Given the description of an element on the screen output the (x, y) to click on. 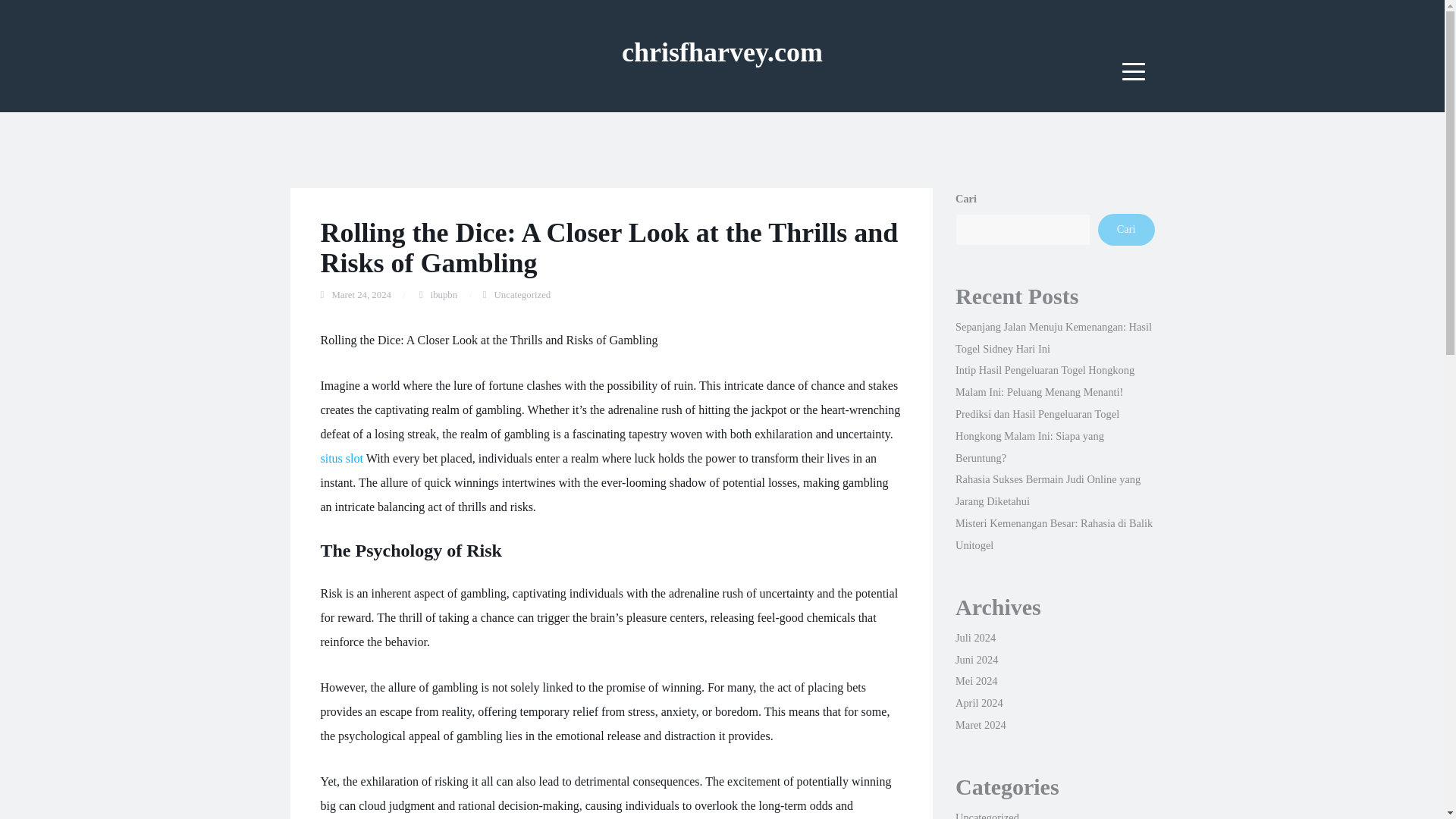
Maret 2024 (980, 725)
Cari (1125, 229)
Rahasia Sukses Bermain Judi Online yang Jarang Diketahui (1047, 489)
Uncategorized (523, 294)
situs slot (341, 458)
ibupbn (444, 294)
Maret 24, 2024 (361, 294)
Juli 2024 (975, 637)
chrisfharvey.com (721, 51)
April 2024 (979, 702)
Menu (1133, 71)
Mei 2024 (976, 680)
Uncategorized (987, 815)
Misteri Kemenangan Besar: Rahasia di Balik Unitogel (1054, 533)
